Given the description of an element on the screen output the (x, y) to click on. 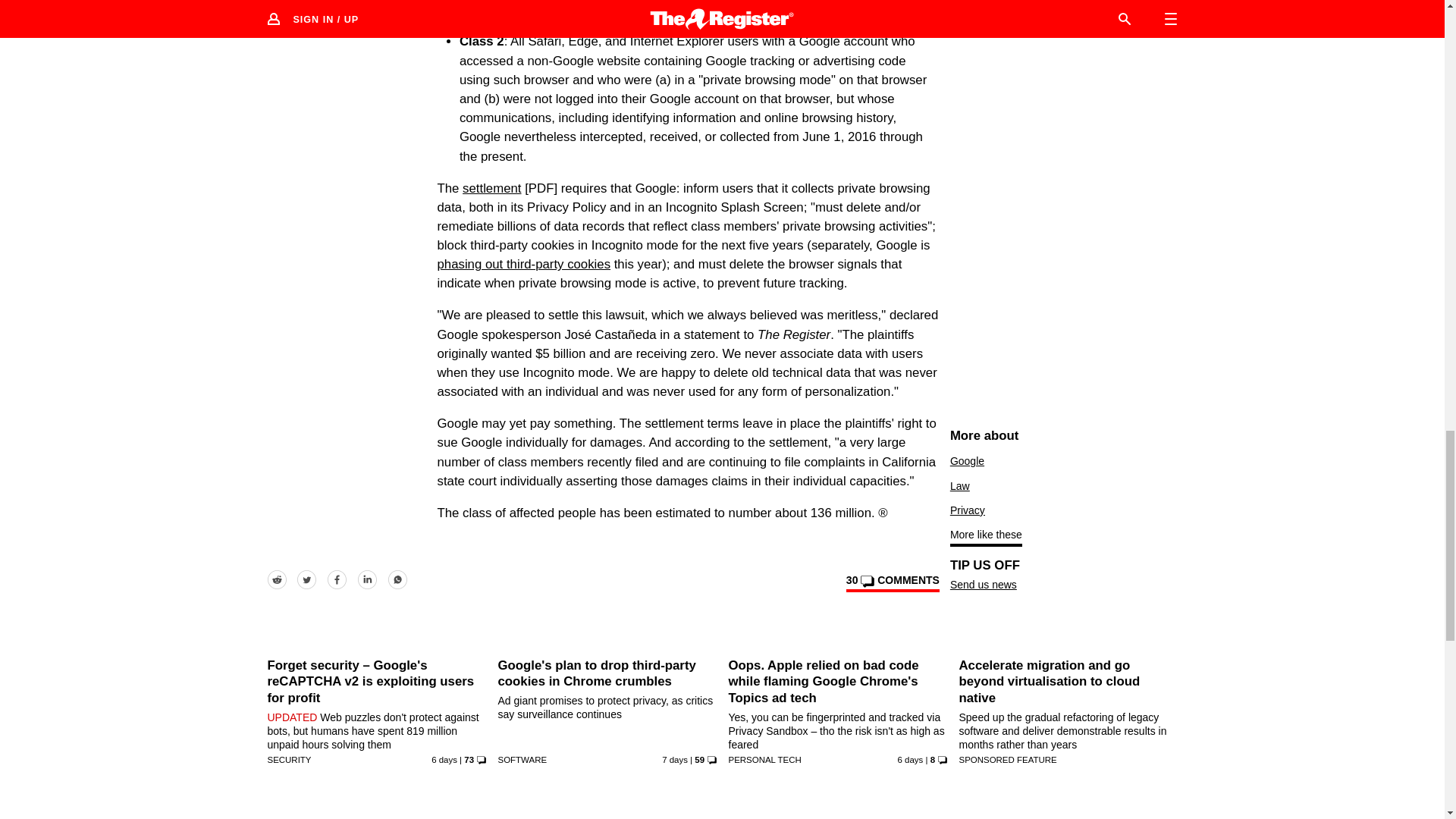
24 Jul 2024 20:44 (910, 759)
24 Jul 2024 6:33 (443, 759)
View comments on this article (892, 583)
23 Jul 2024 0:3 (674, 759)
